Given the description of an element on the screen output the (x, y) to click on. 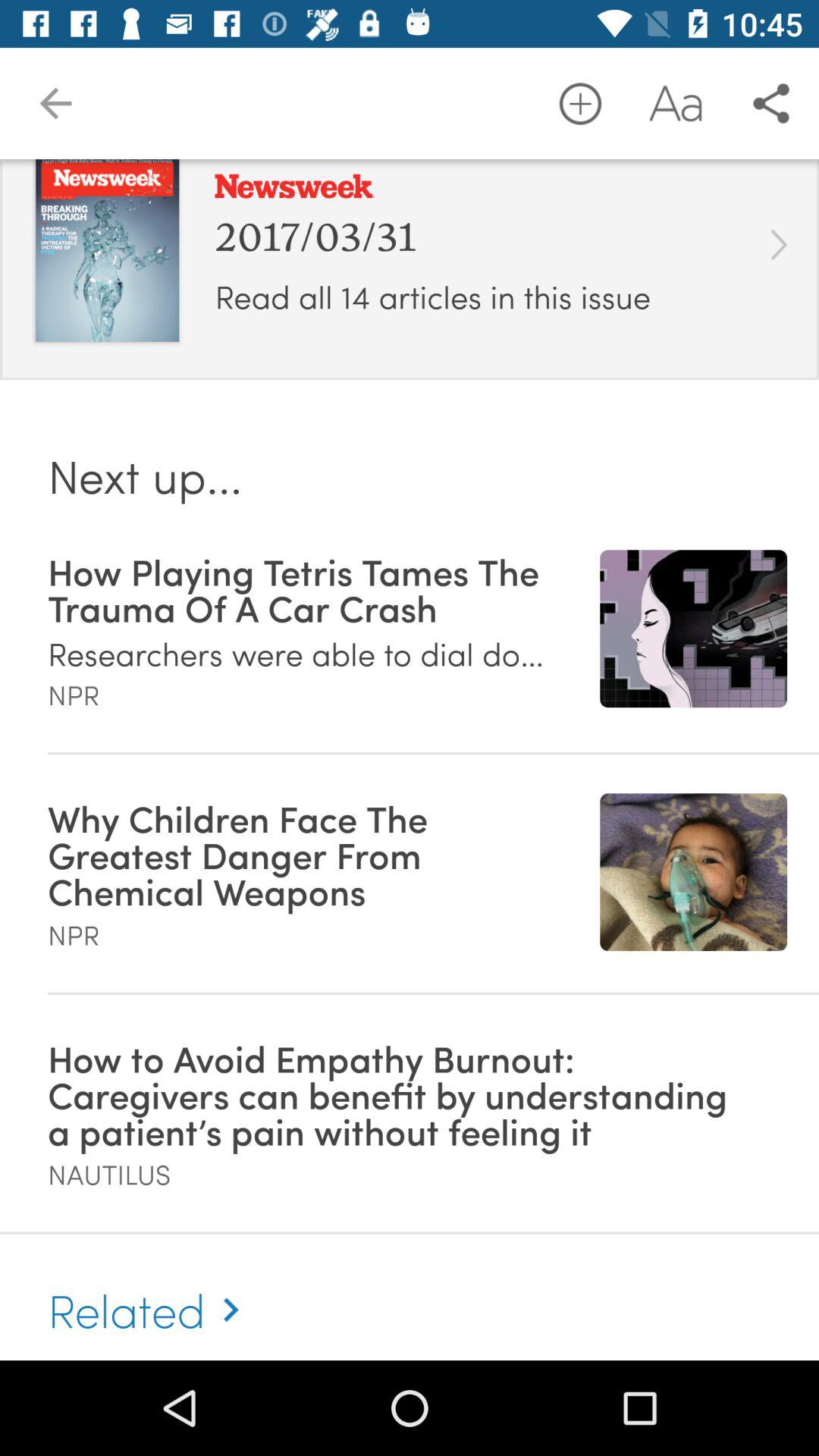
swipe until the related item (150, 1292)
